Given the description of an element on the screen output the (x, y) to click on. 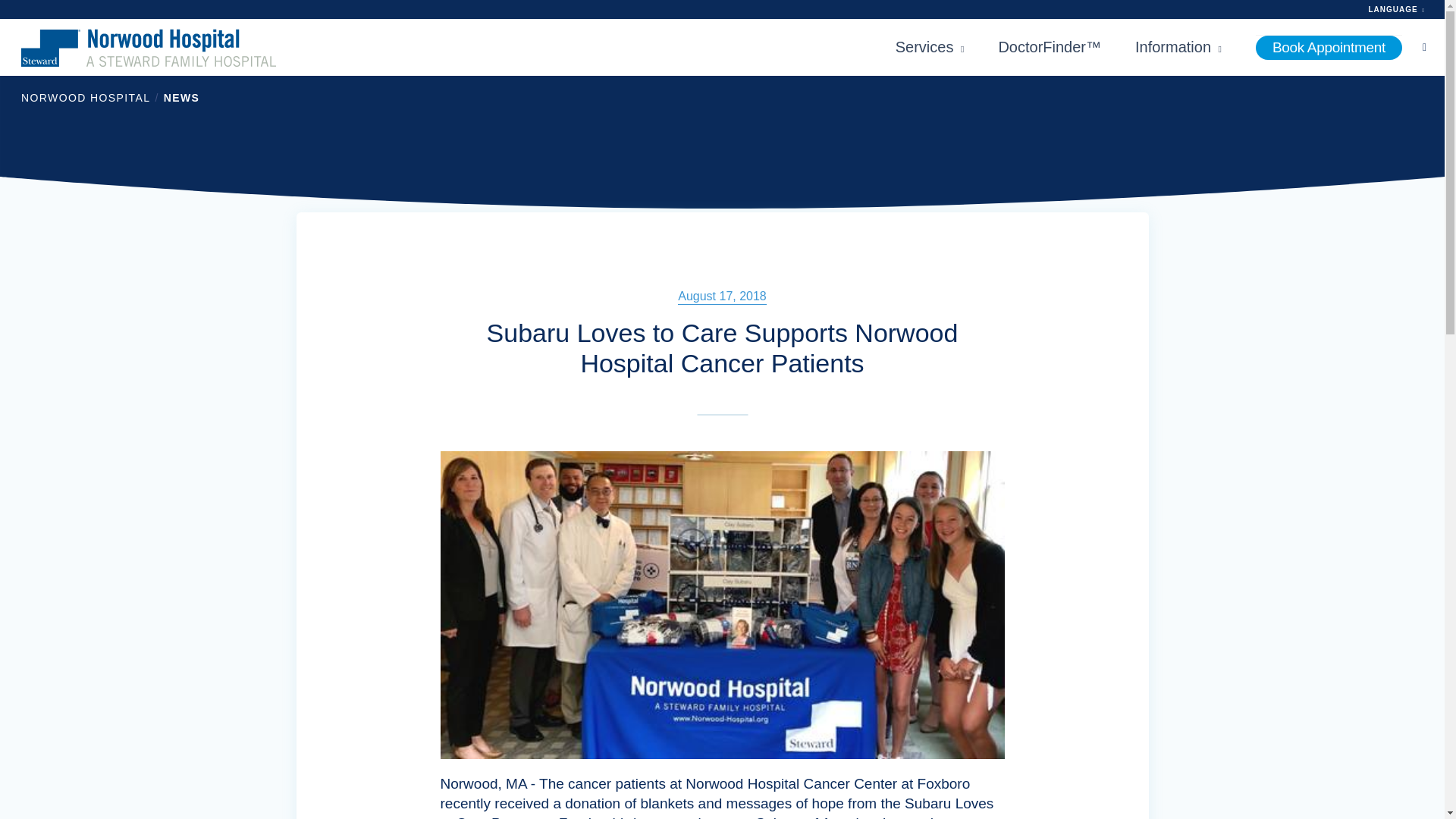
Book Appointment (1328, 47)
Information (1178, 46)
NEWS (181, 97)
Services (929, 46)
